Given the description of an element on the screen output the (x, y) to click on. 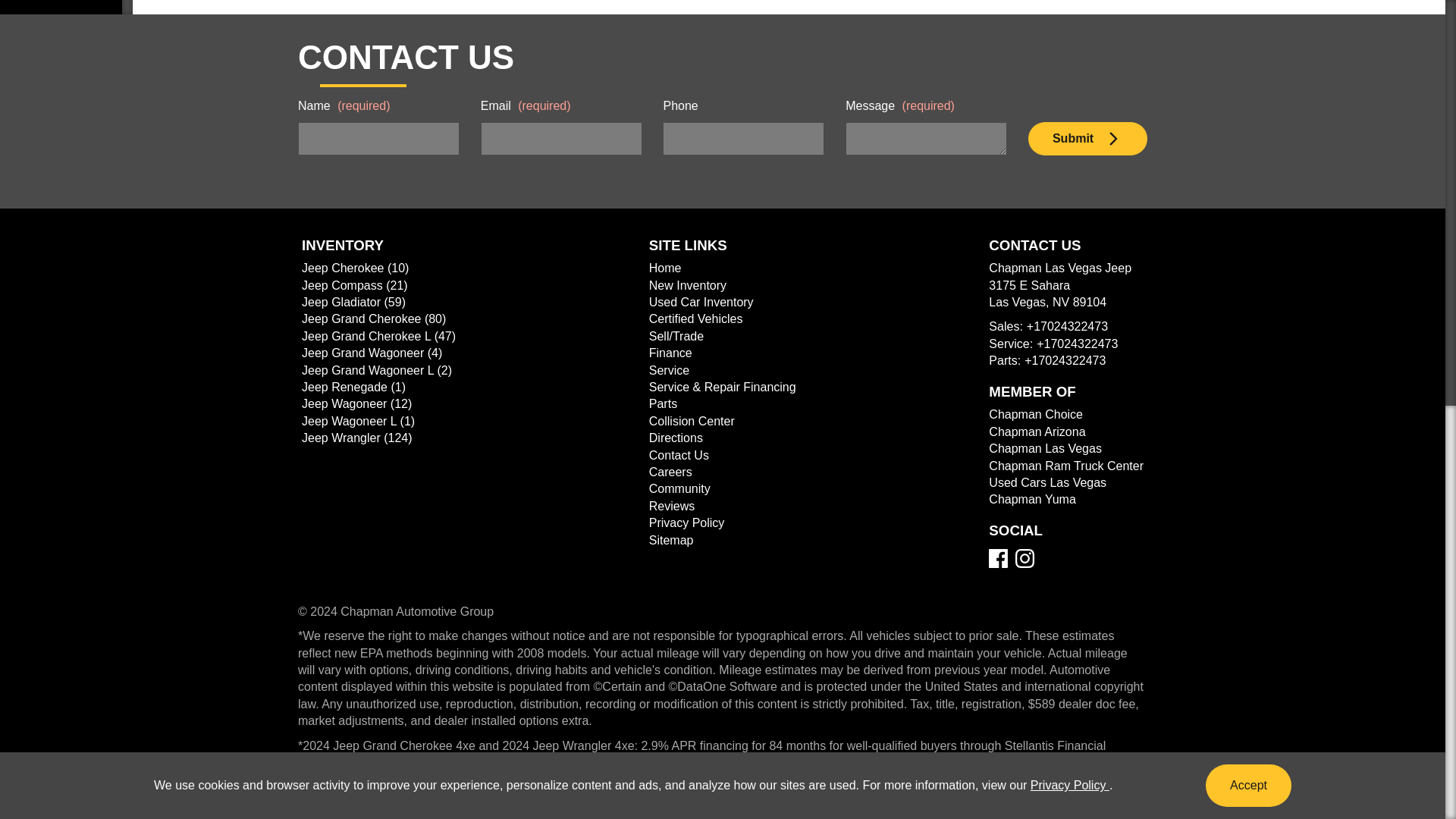
show chat (1408, 1)
Facebook (997, 558)
Instagram (1023, 558)
